Given the description of an element on the screen output the (x, y) to click on. 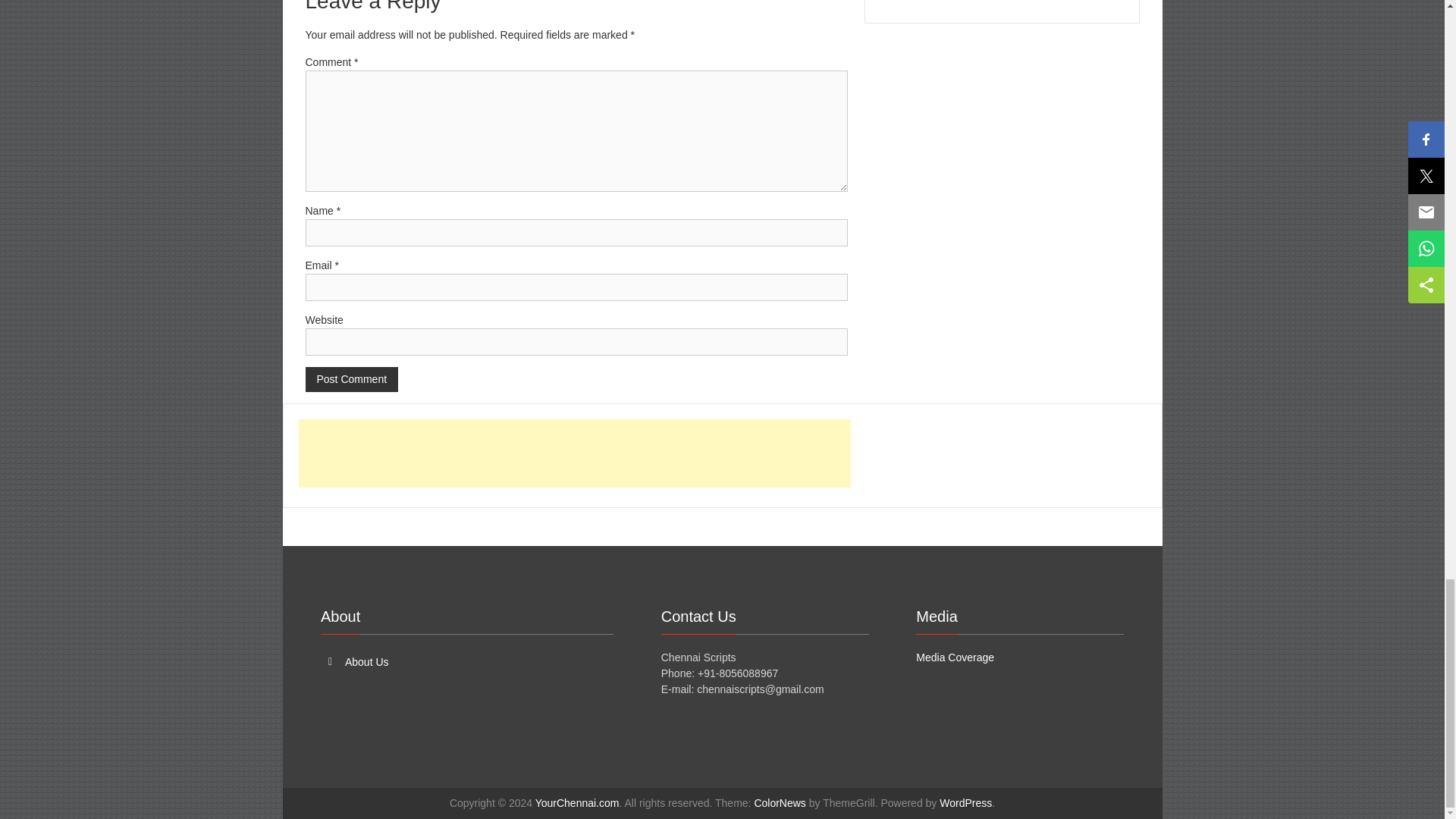
Post Comment (350, 379)
